Given the description of an element on the screen output the (x, y) to click on. 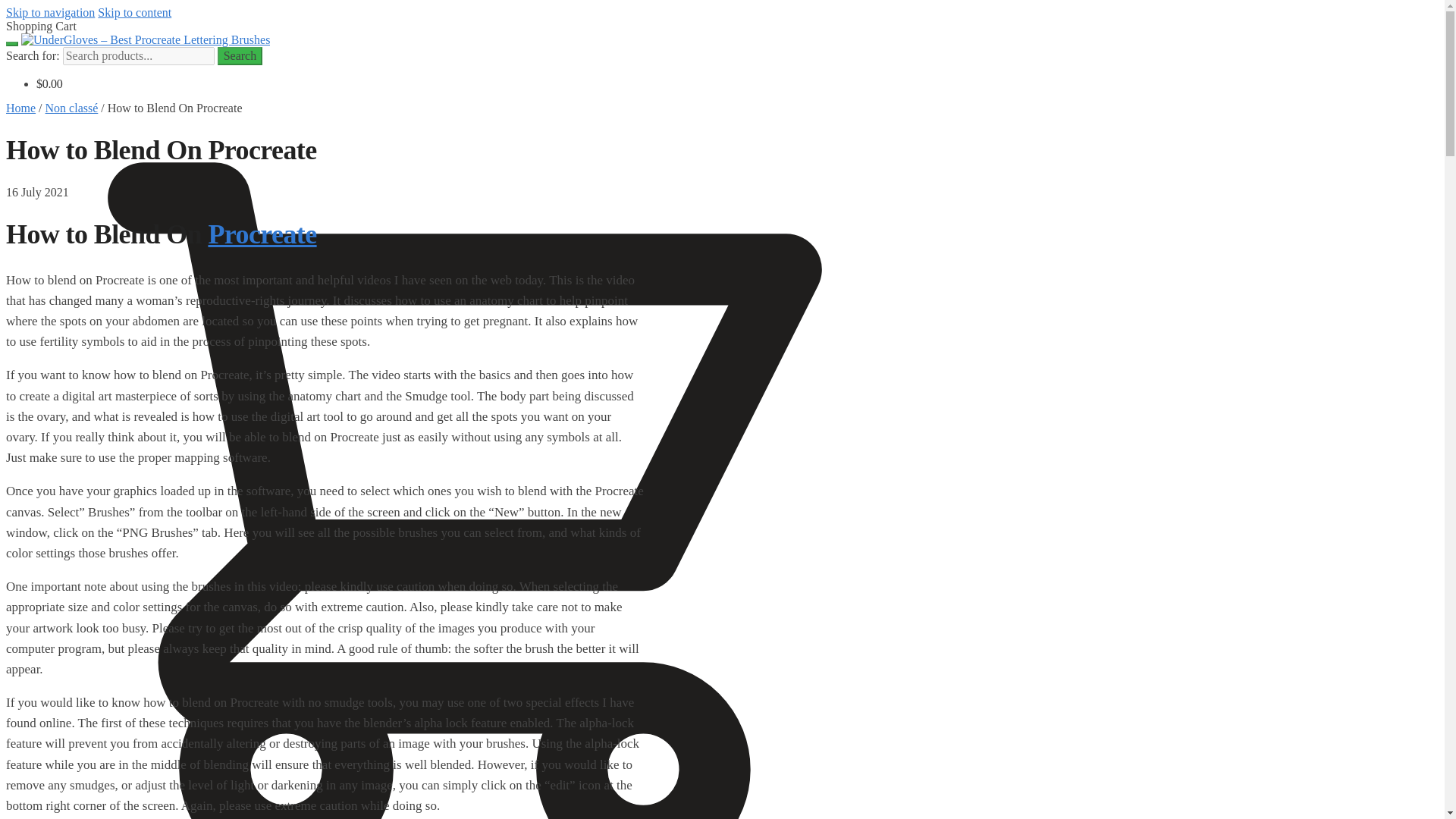
Skip to navigation (49, 11)
Search (239, 55)
Home (19, 107)
Procreate (261, 234)
Skip to content (134, 11)
